Given the description of an element on the screen output the (x, y) to click on. 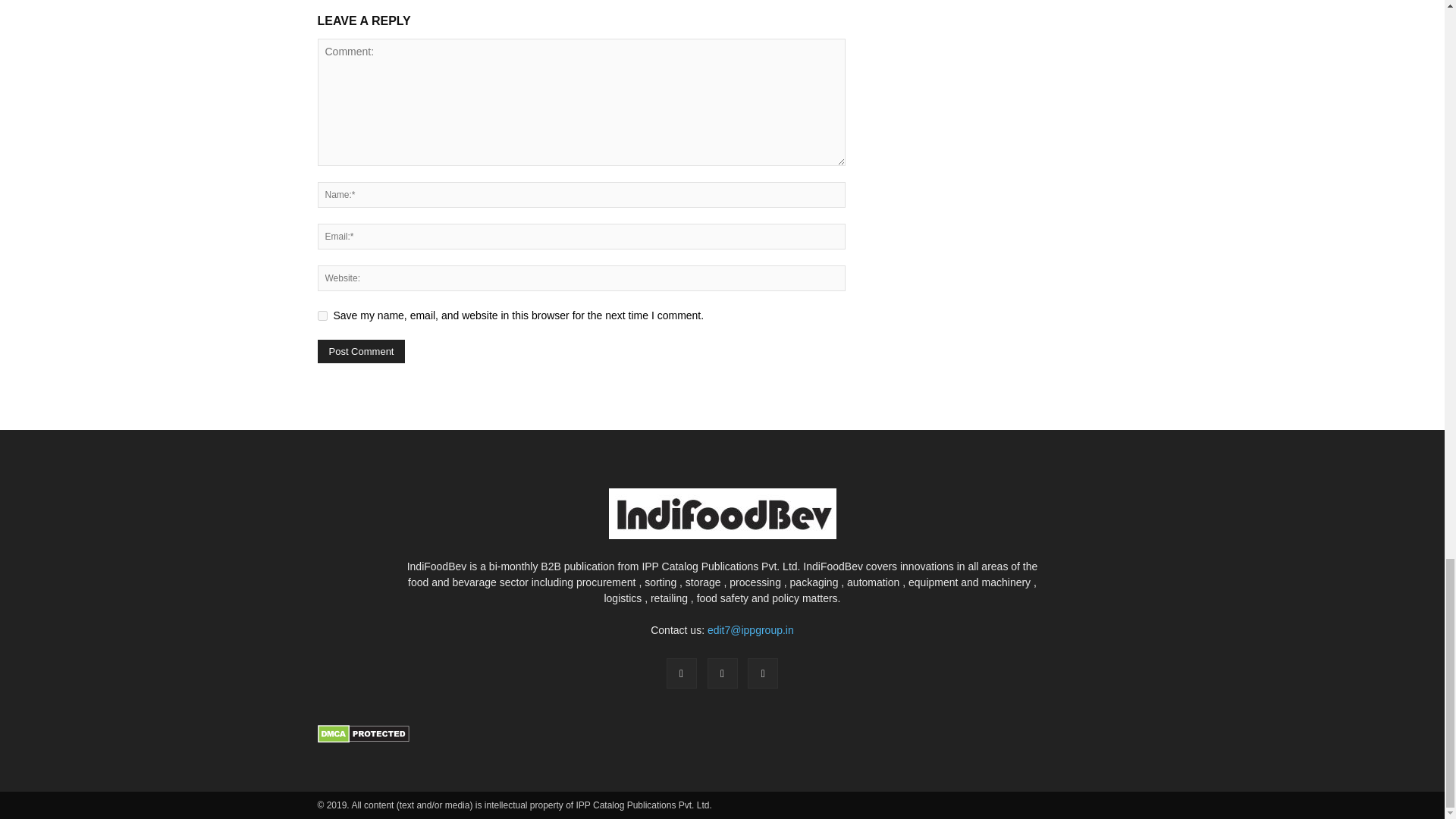
yes (321, 316)
Post Comment (360, 351)
